Given the description of an element on the screen output the (x, y) to click on. 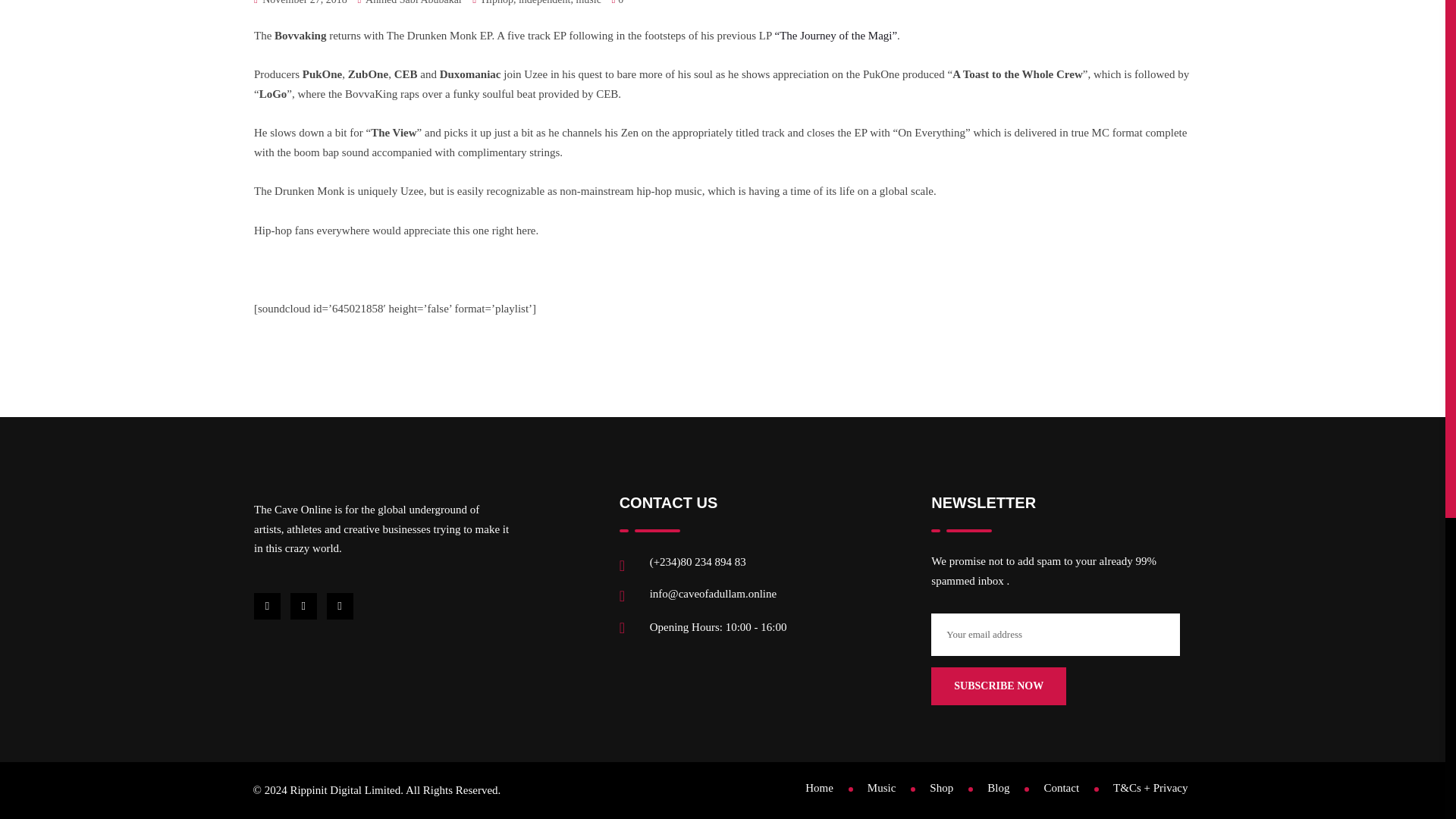
Subscribe Now (998, 686)
Hiphop (497, 4)
independent (544, 4)
music (587, 4)
